Given the description of an element on the screen output the (x, y) to click on. 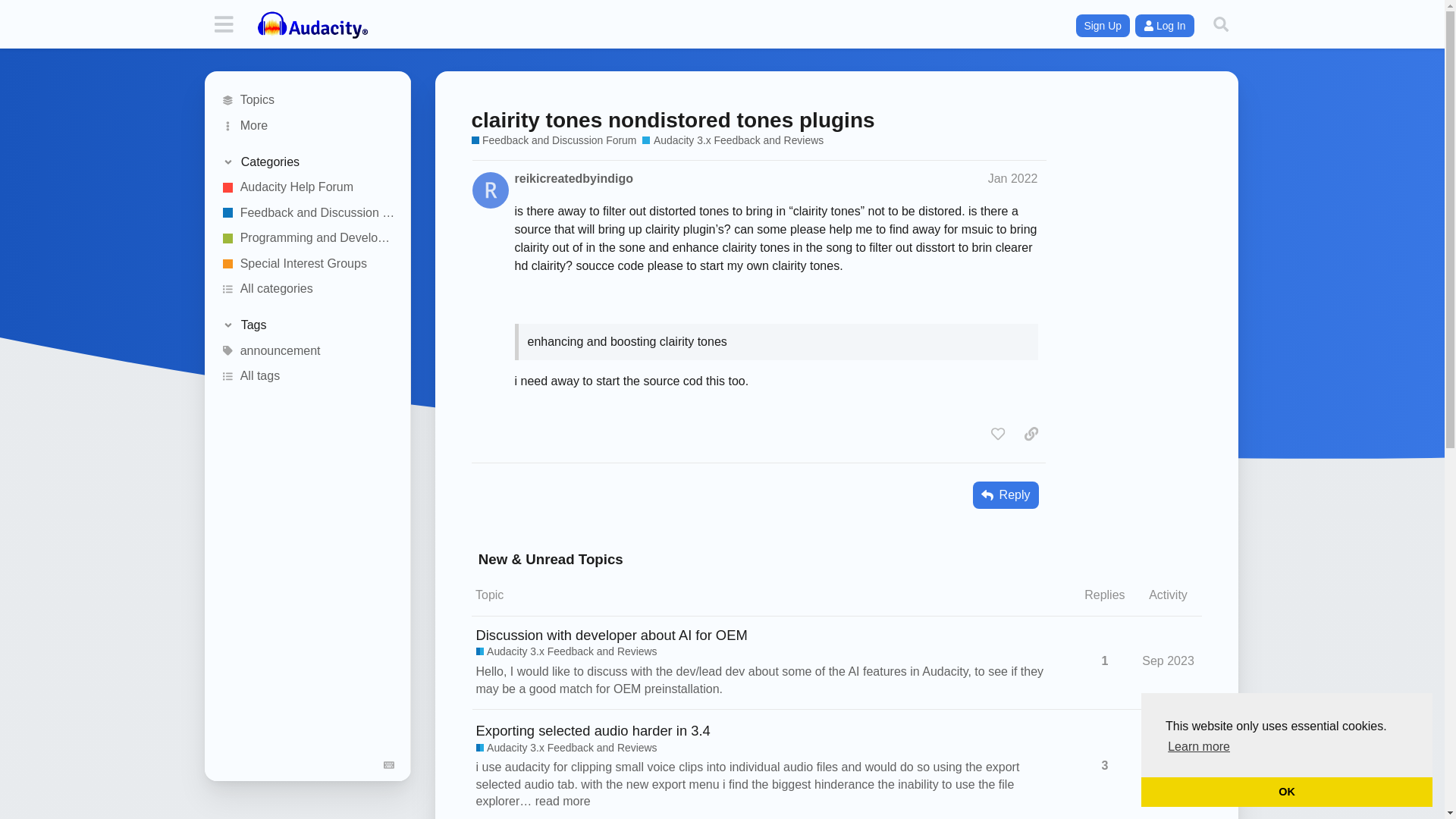
All topics (307, 100)
Sign Up (1102, 25)
clairity tones nondistored tones plugins (673, 119)
Log In (1164, 25)
Categories (306, 162)
1 (1104, 660)
Computer Programming for Audio Applications (307, 238)
Topics (307, 100)
Feedback and Discussion Forum (307, 212)
Tags (306, 325)
Audacity 3.x Feedback and Reviews (733, 140)
Keyboard Shortcuts (389, 764)
Share your feedback about Audacity in this forum! (554, 140)
All categories (307, 289)
copy a link to this post to clipboard (1030, 433)
